Given the description of an element on the screen output the (x, y) to click on. 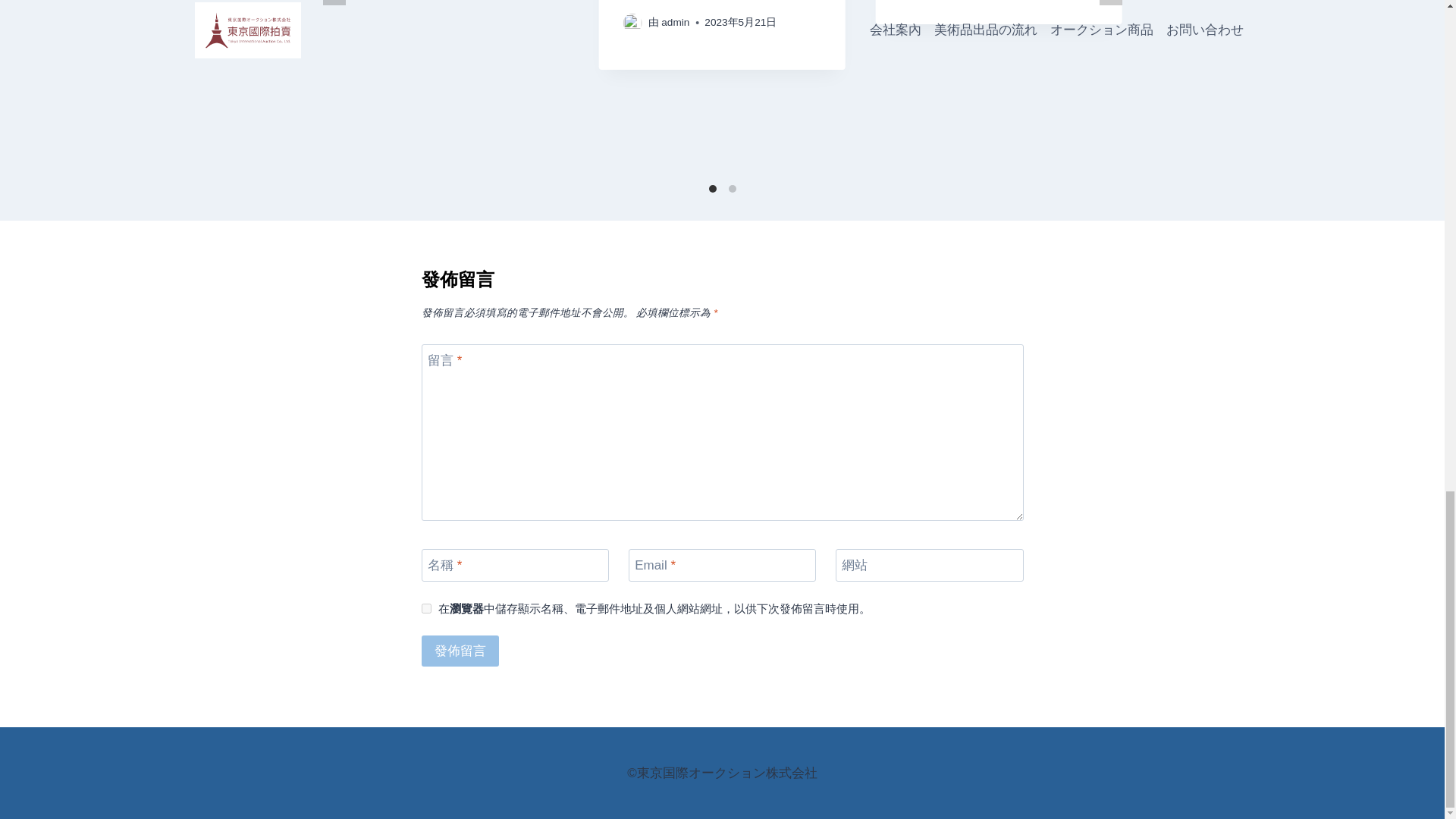
yes (426, 608)
prev (334, 2)
next (1110, 2)
